Given the description of an element on the screen output the (x, y) to click on. 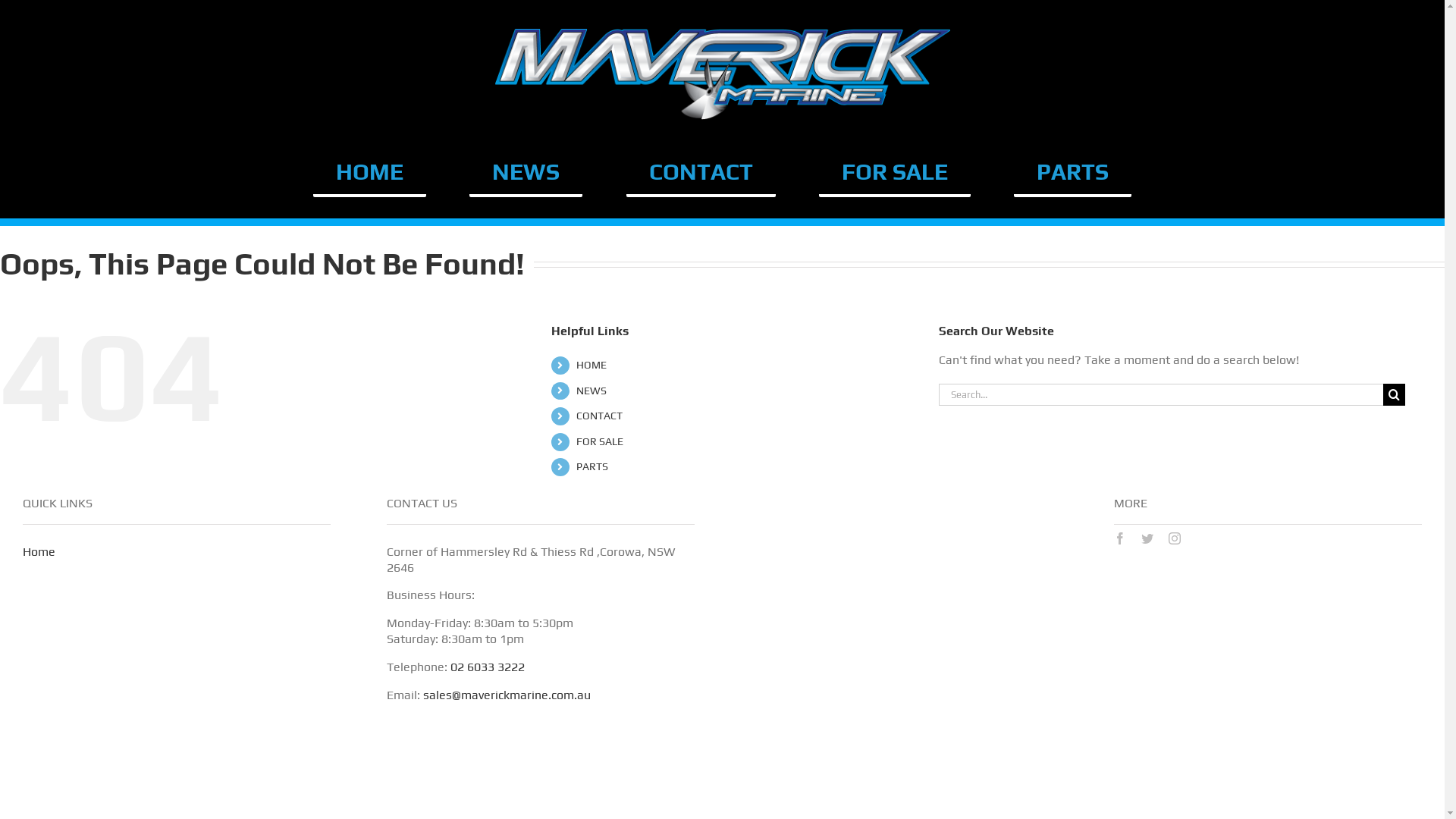
CONTACT Element type: text (700, 173)
NEWS Element type: text (591, 390)
Home Element type: text (38, 551)
FOR SALE Element type: text (894, 173)
PARTS Element type: text (592, 466)
NEWS Element type: text (525, 173)
HOME Element type: text (369, 173)
PARTS Element type: text (1072, 173)
sales@maverickmarine.com.au Element type: text (506, 694)
HOME Element type: text (591, 364)
FOR SALE Element type: text (599, 441)
02 6033 3222 Element type: text (487, 666)
CONTACT Element type: text (599, 415)
